Given the description of an element on the screen output the (x, y) to click on. 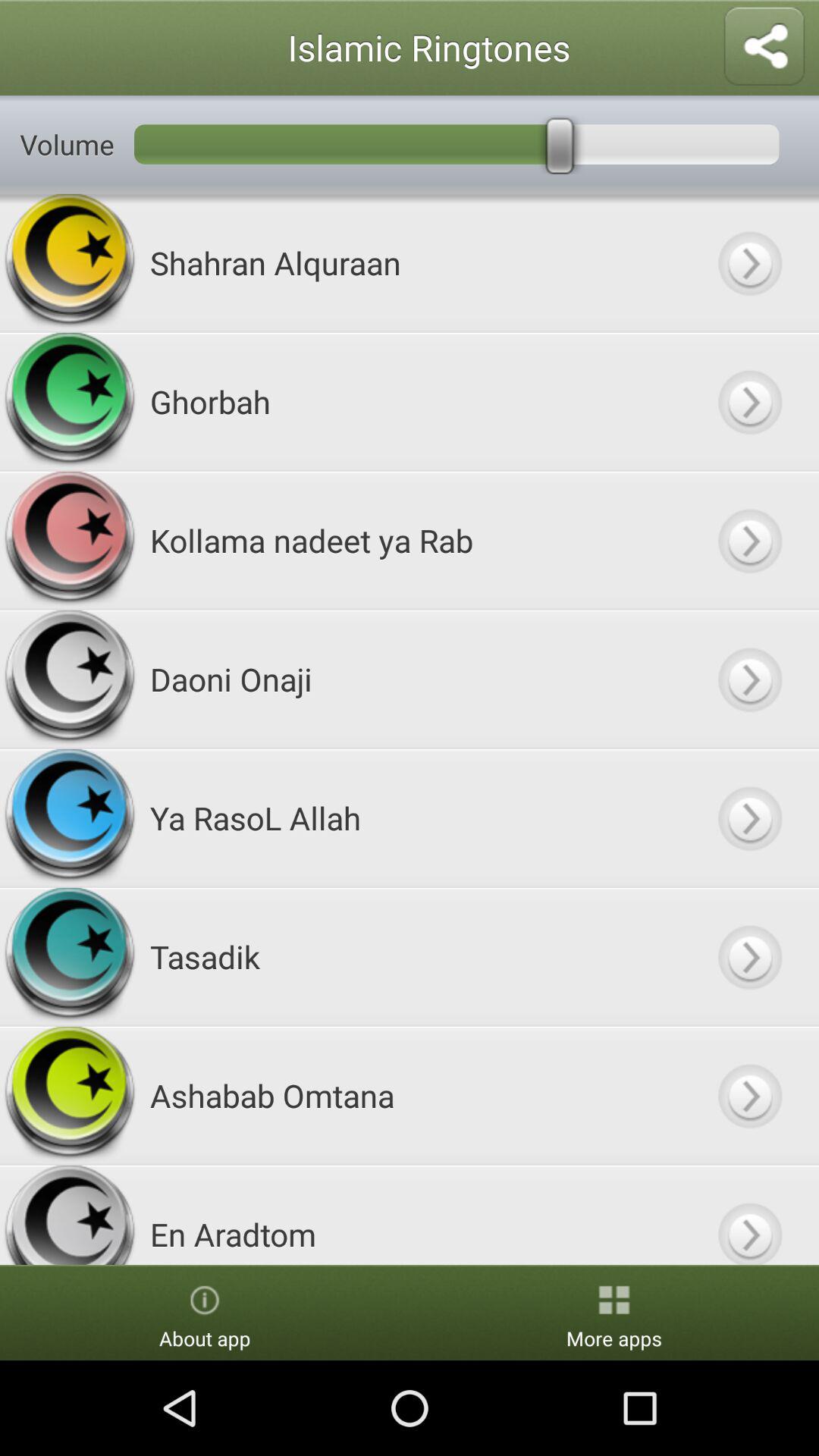
play ringtone (749, 262)
